Given the description of an element on the screen output the (x, y) to click on. 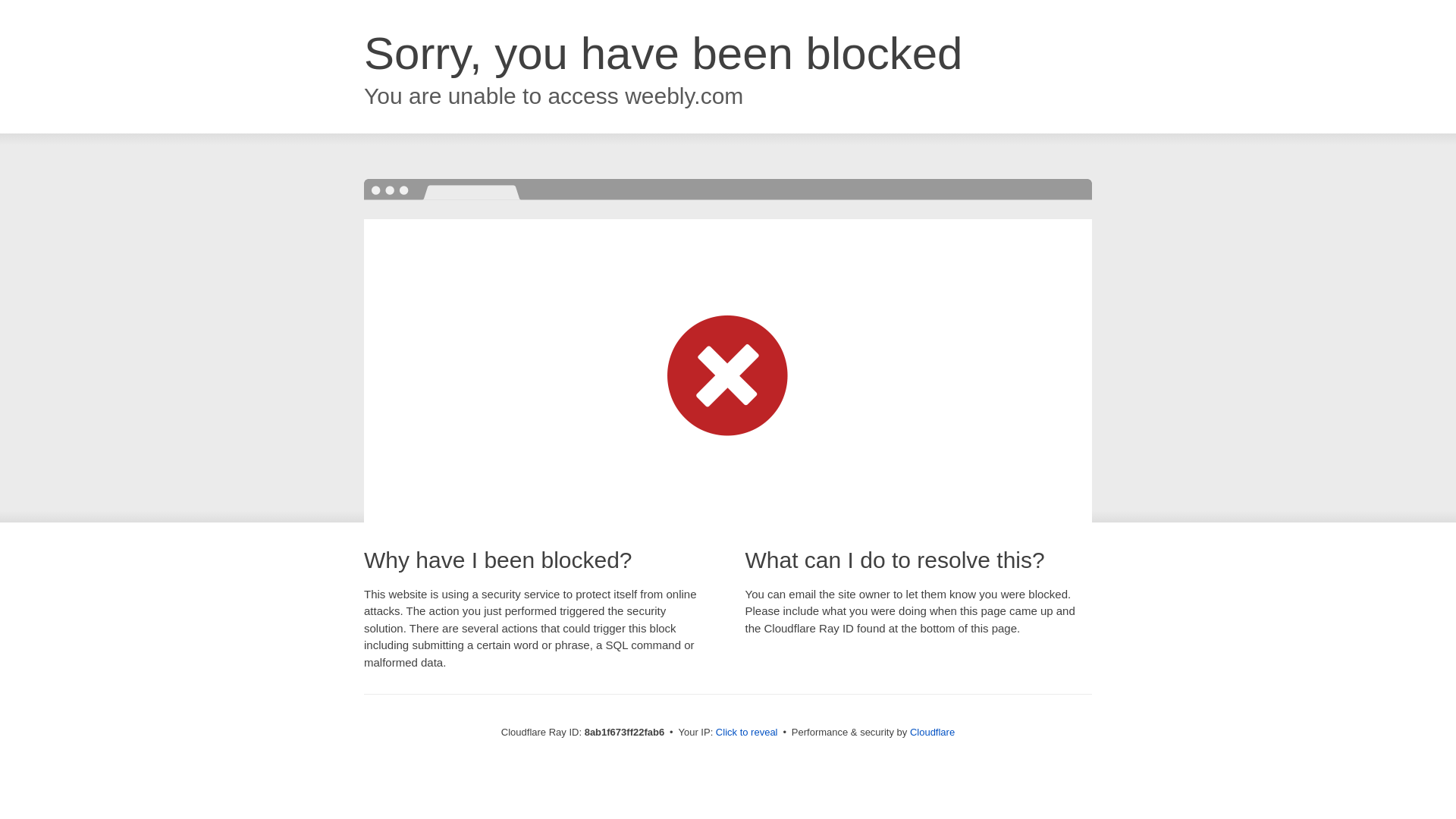
Cloudflare (932, 731)
Click to reveal (746, 732)
